Given the description of an element on the screen output the (x, y) to click on. 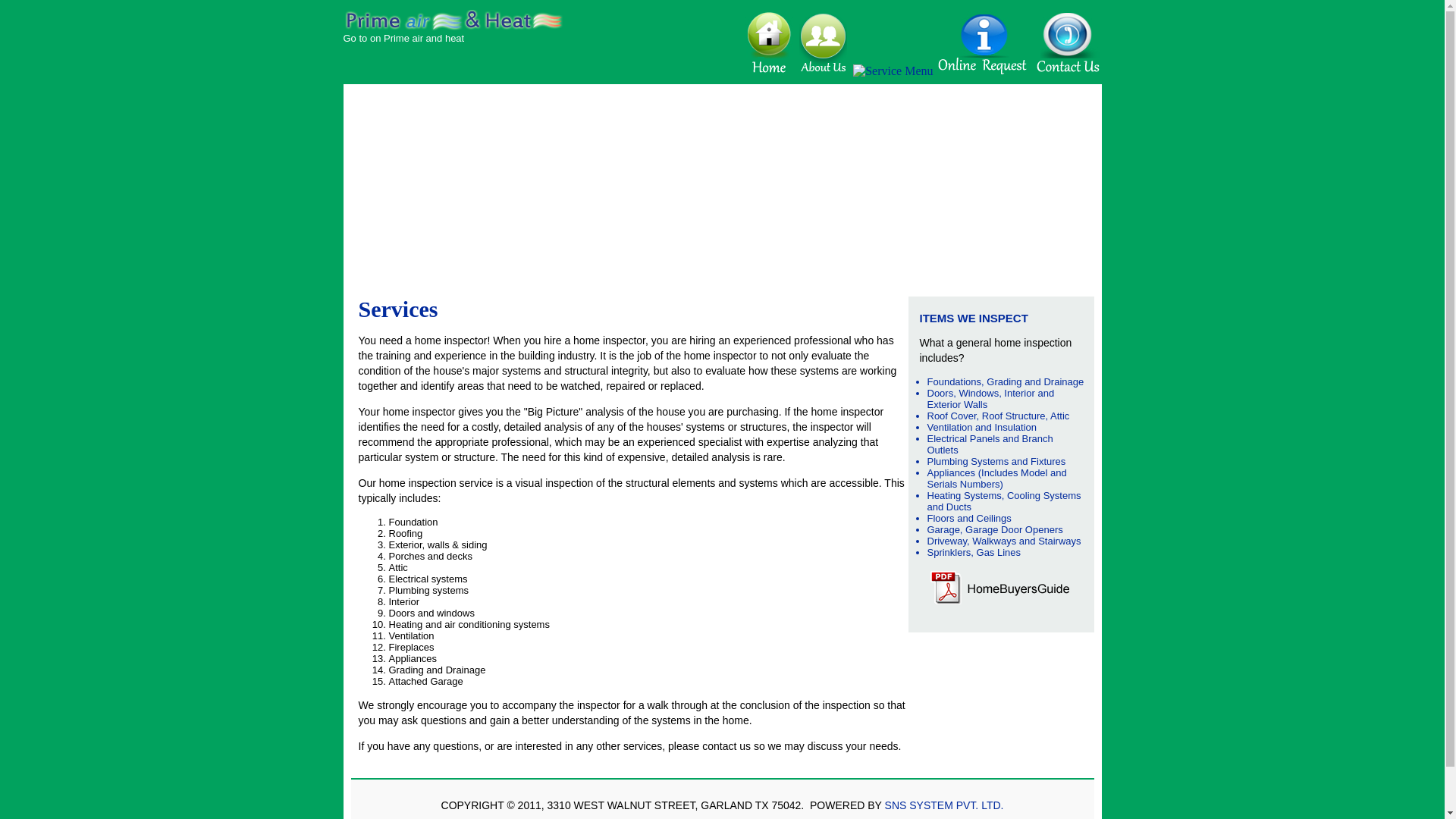
SNS SYSTEM PVT. LTD. (944, 805)
Go to on Prime air and heat (403, 38)
